Given the description of an element on the screen output the (x, y) to click on. 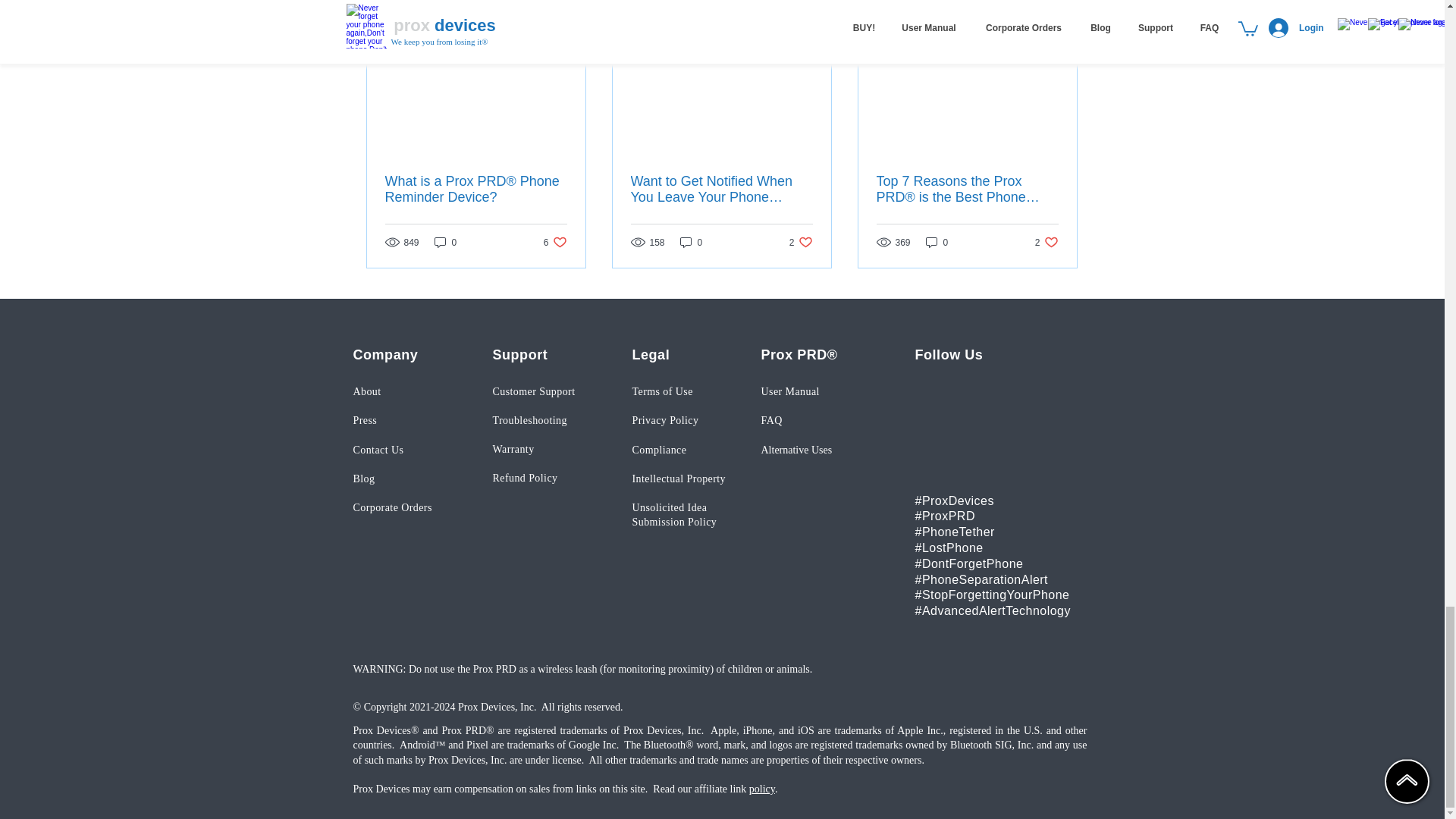
0 (445, 242)
See All (1061, 8)
Want to Get Notified When You Leave Your Phone Behind? (800, 242)
0 (721, 189)
